Given the description of an element on the screen output the (x, y) to click on. 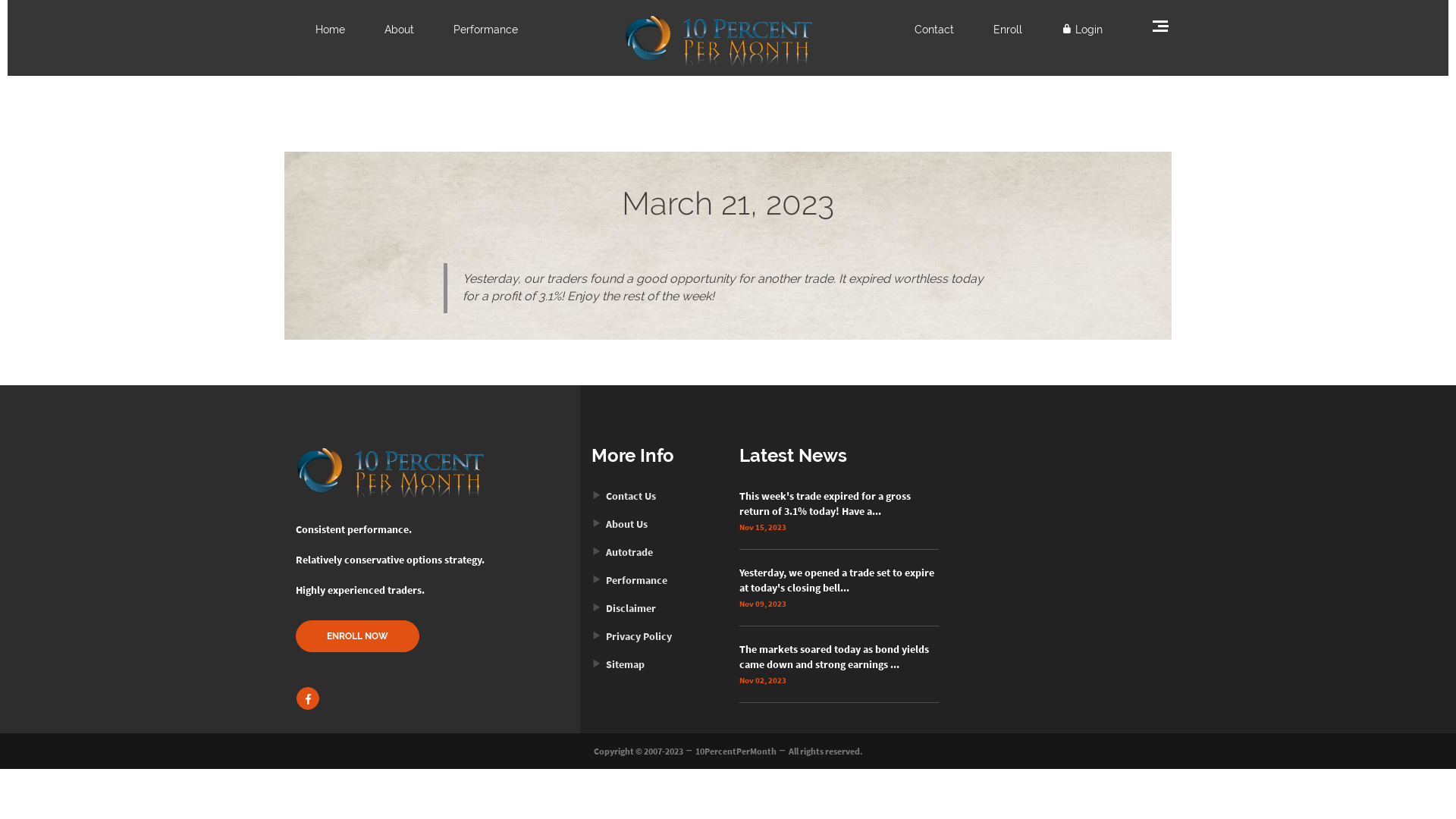
Contact Us Element type: text (623, 495)
Disclaimer Element type: text (623, 607)
Performance Element type: text (485, 29)
Enroll Element type: text (1007, 29)
Autotrade Element type: text (621, 551)
Like us on Facebook! Element type: hover (307, 698)
Home Element type: text (330, 29)
Login Element type: text (1081, 29)
Privacy Policy Element type: text (631, 635)
Contact Element type: text (933, 29)
Performance Element type: text (629, 579)
ENROLL NOW Element type: text (357, 636)
Sitemap Element type: text (617, 663)
About Element type: text (399, 29)
About Us Element type: text (619, 523)
